Given the description of an element on the screen output the (x, y) to click on. 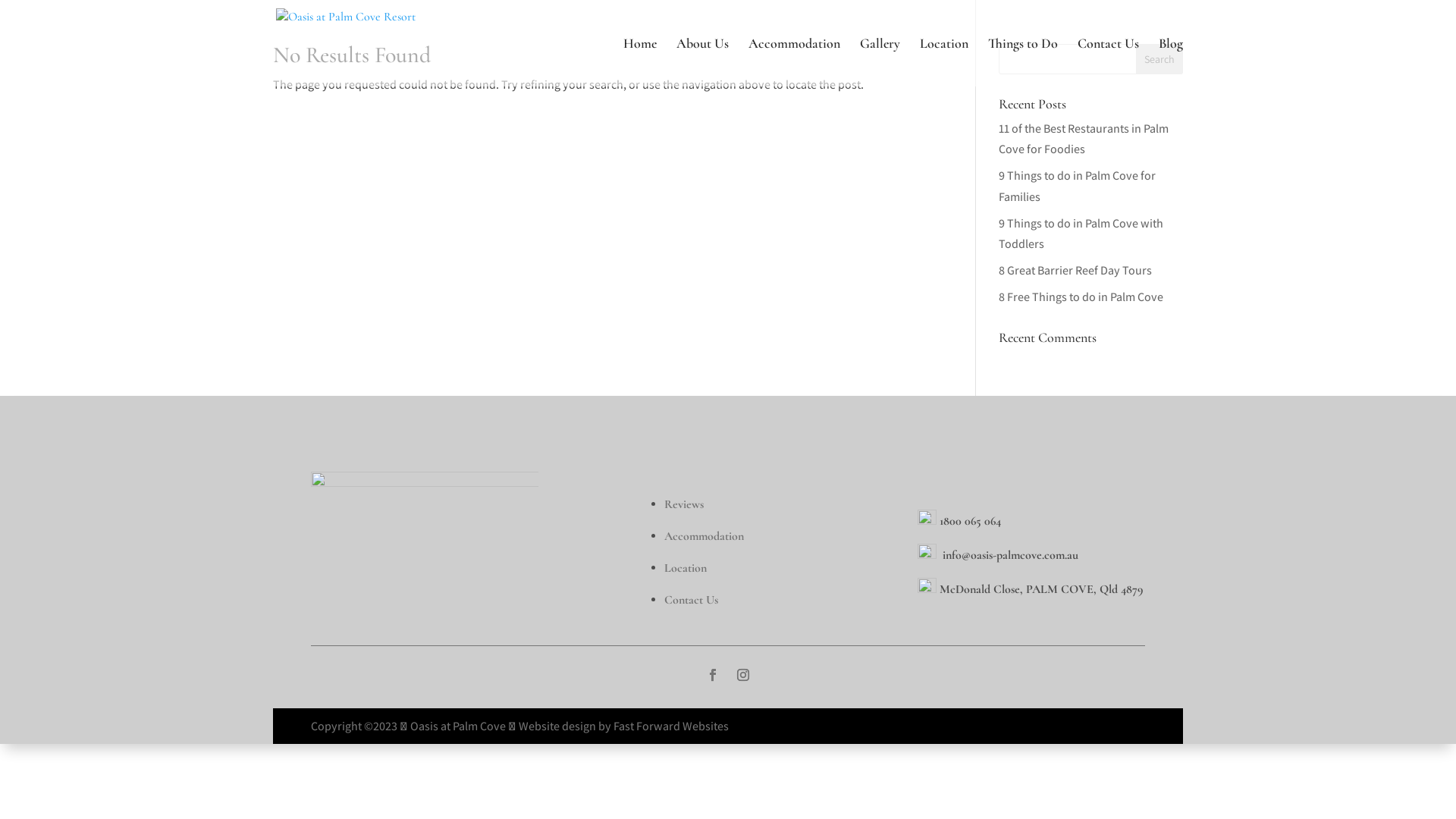
Location Element type: text (685, 566)
oasis-logo-black-1- Element type: hover (424, 528)
Follow on Instagram Element type: hover (743, 674)
Contact Us Element type: text (691, 598)
Follow on Facebook Element type: hover (712, 674)
Things to Do Element type: text (1022, 61)
8 Great Barrier Reef Day Tours Element type: text (1074, 270)
Contact Us Element type: text (1108, 61)
Blog Element type: text (1170, 61)
Gallery Element type: text (879, 61)
Reviews Element type: text (683, 503)
Accommodation Element type: text (794, 61)
8 Free Things to do in Palm Cove Element type: text (1080, 296)
Location Element type: text (943, 61)
9 Things to do in Palm Cove with Toddlers Element type: text (1080, 233)
About Us Element type: text (702, 61)
Accommodation Element type: text (703, 534)
Home Element type: text (639, 61)
11 of the Best Restaurants in Palm Cove for Foodies Element type: text (1083, 138)
9 Things to do in Palm Cove for Families Element type: text (1076, 185)
Search Element type: text (1159, 58)
